Given the description of an element on the screen output the (x, y) to click on. 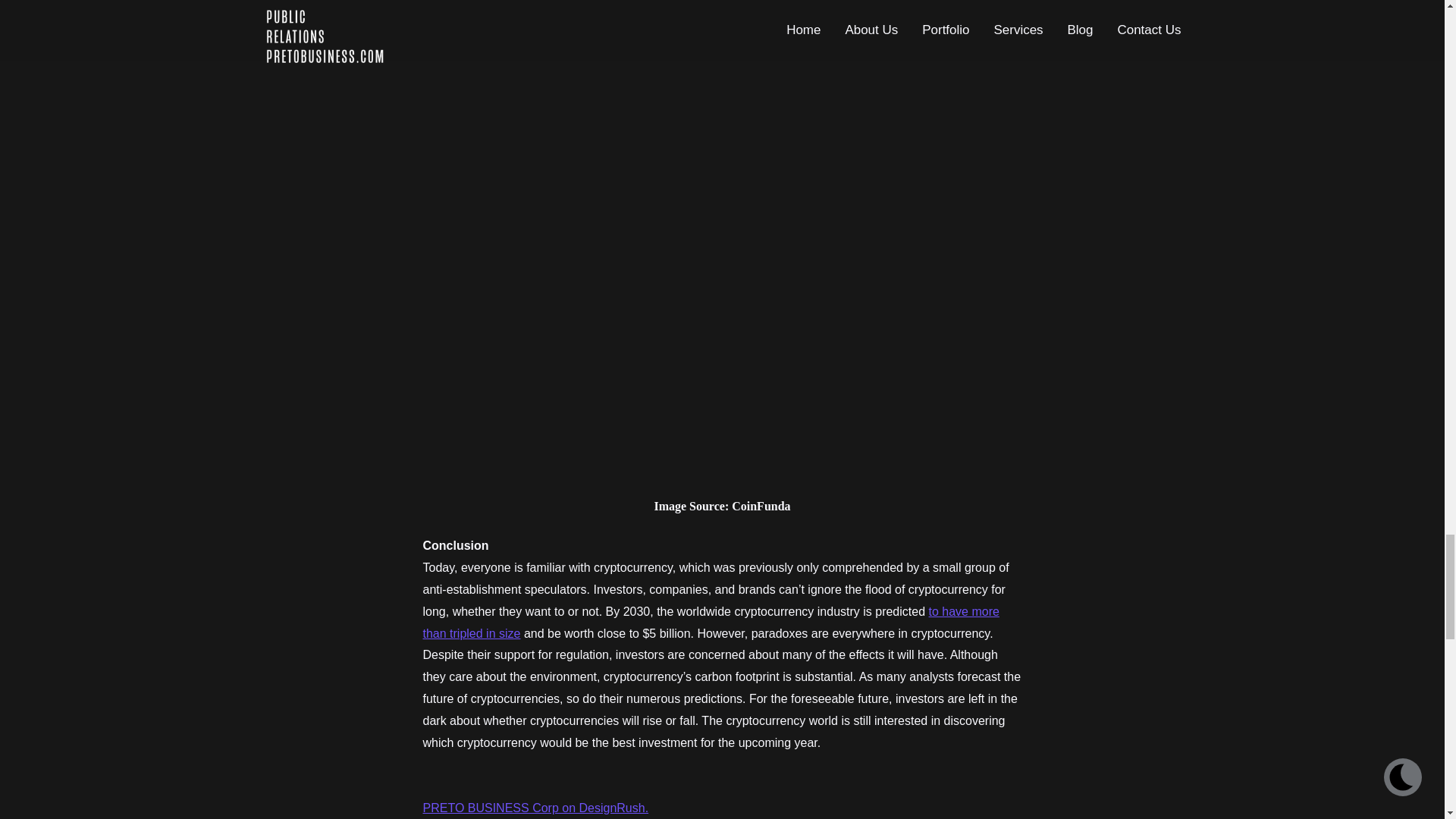
to have more than tripled in size (710, 622)
PRETO BUSINESS Corp on DesignRush. (536, 807)
